Given the description of an element on the screen output the (x, y) to click on. 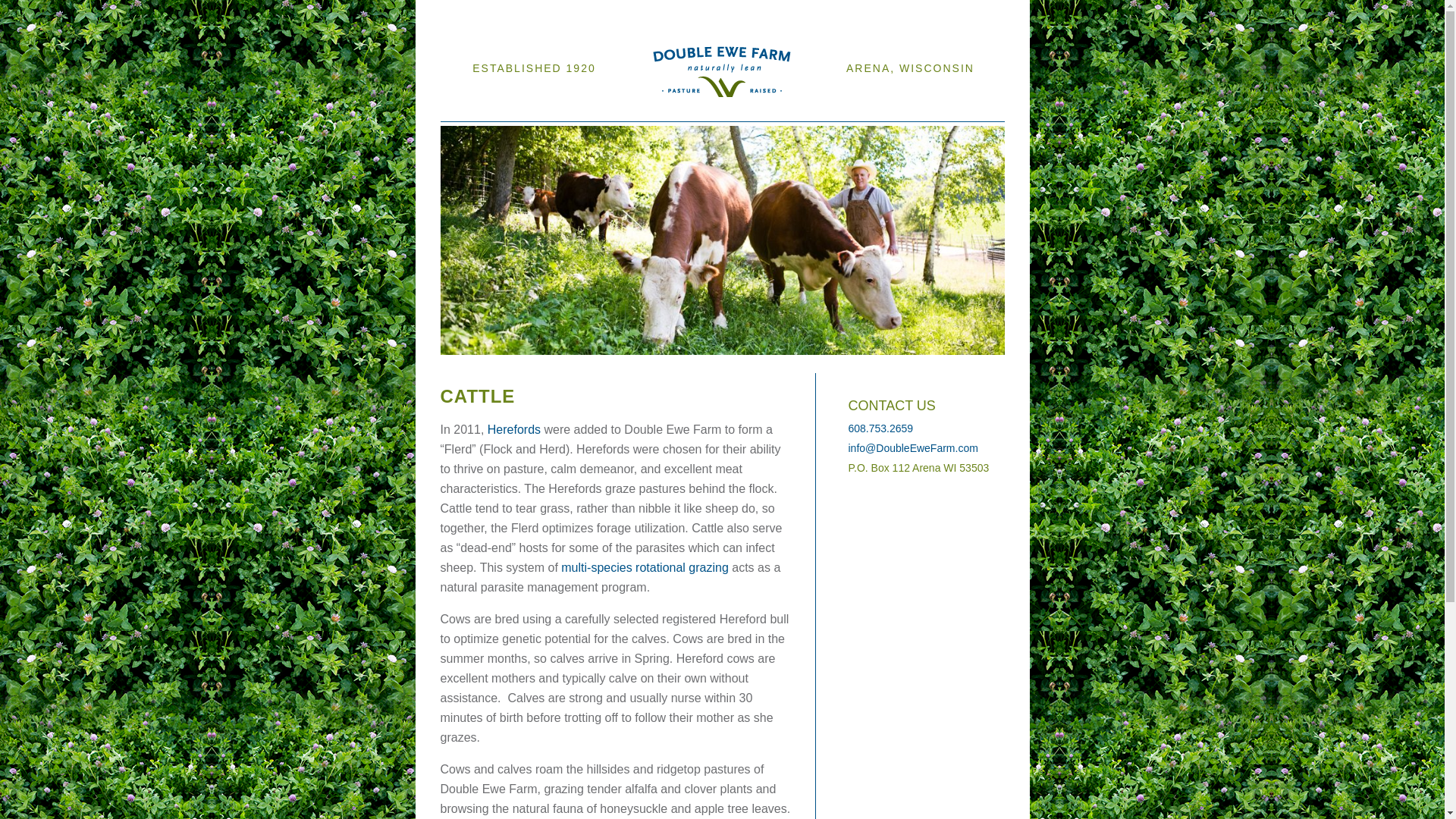
SHEEP (549, 110)
CONTACT (753, 110)
Herefords (513, 429)
RESOURCES (626, 110)
608.753.2659 (879, 428)
WELCOME (462, 110)
CATTLE (581, 110)
multi-species rotational grazing (644, 567)
FARM PRODUCTS (693, 110)
OUR FARM (510, 110)
